Given the description of an element on the screen output the (x, y) to click on. 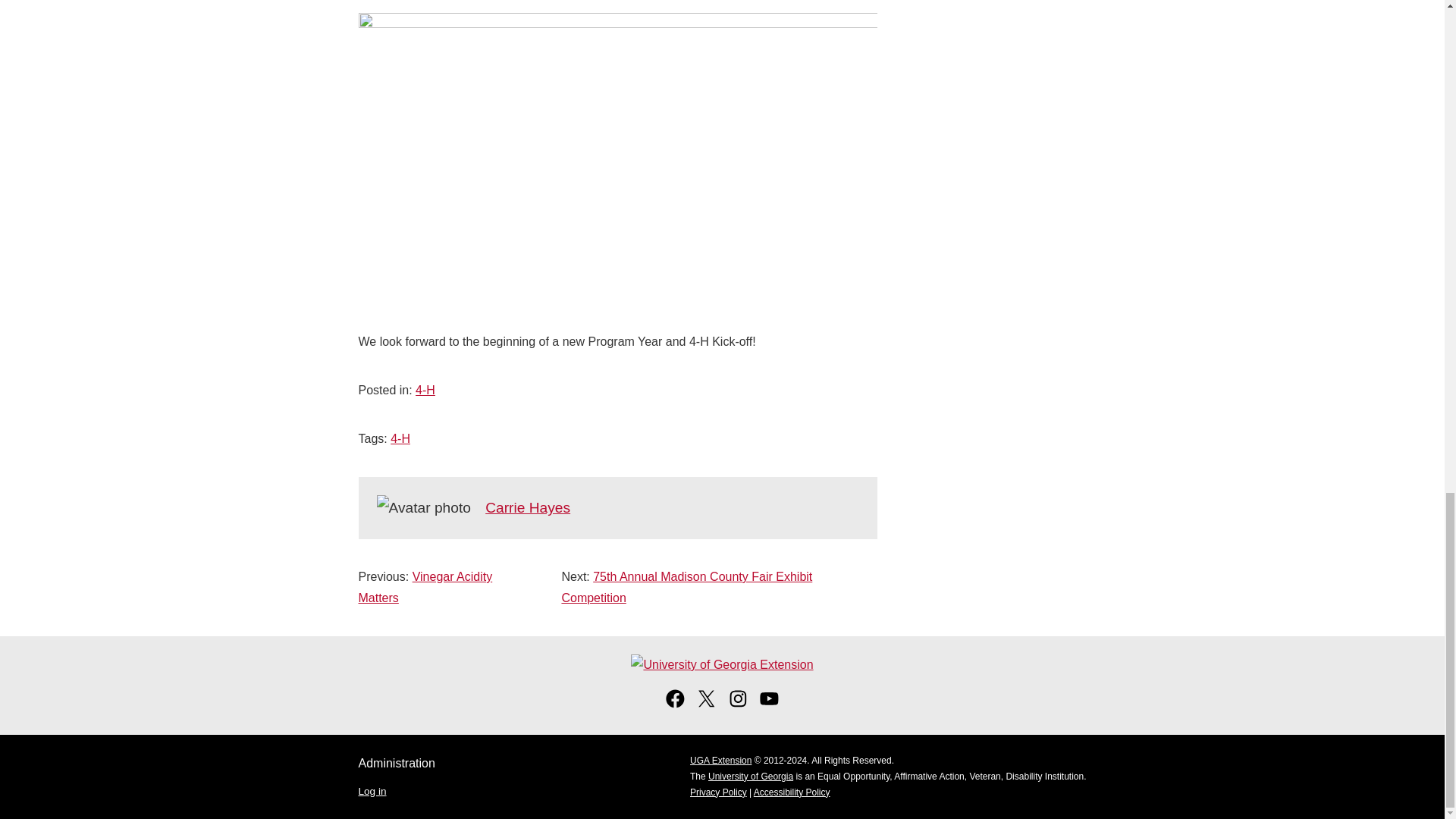
4-H (424, 390)
Carrie Hayes (527, 507)
4-H (400, 438)
75th Annual Madison County Fair Exhibit Competition (686, 587)
Vinegar Acidity Matters (425, 587)
